Given the description of an element on the screen output the (x, y) to click on. 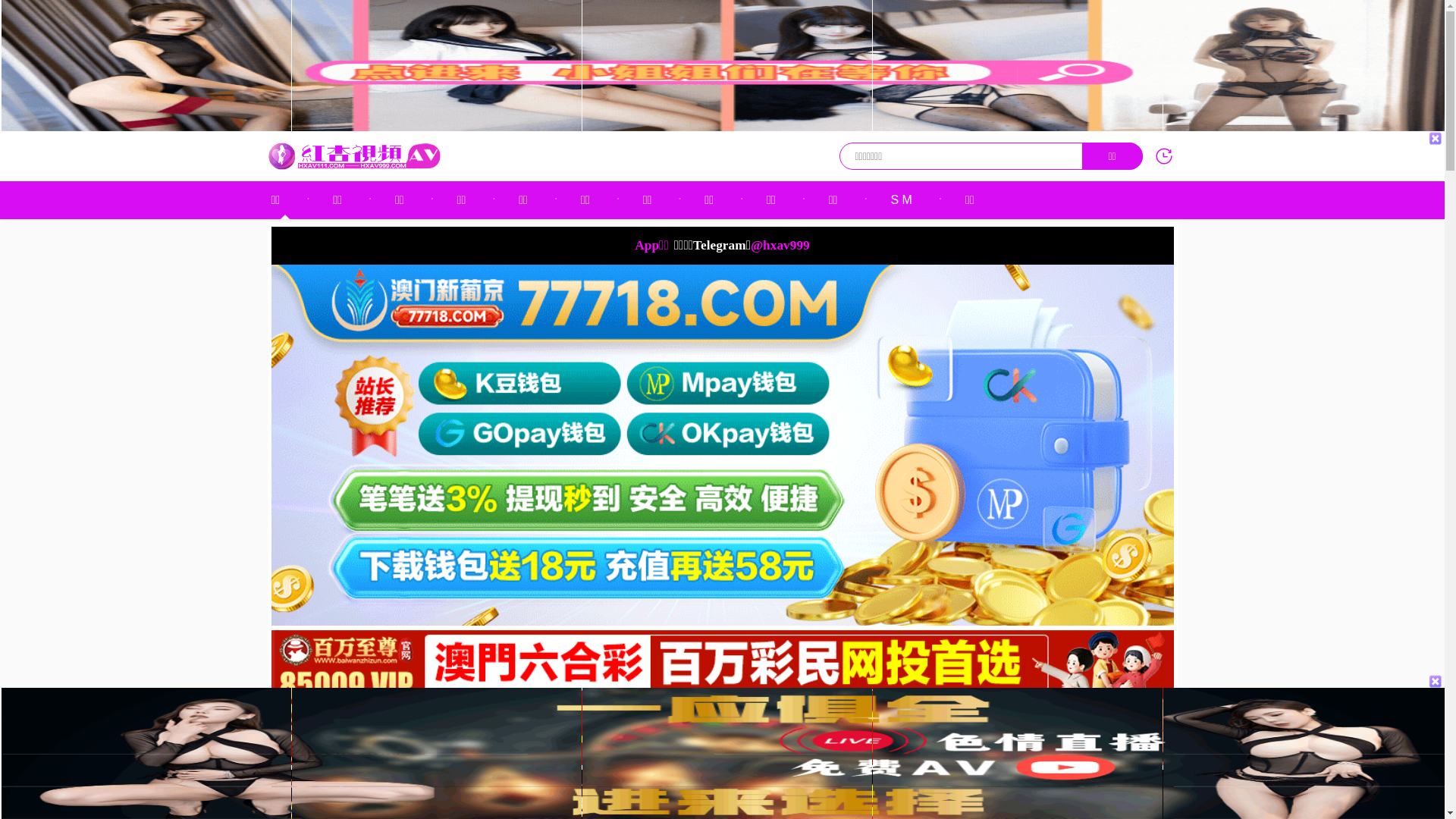
@hxav999 Element type: text (779, 245)
S M Element type: text (900, 200)
